Given the description of an element on the screen output the (x, y) to click on. 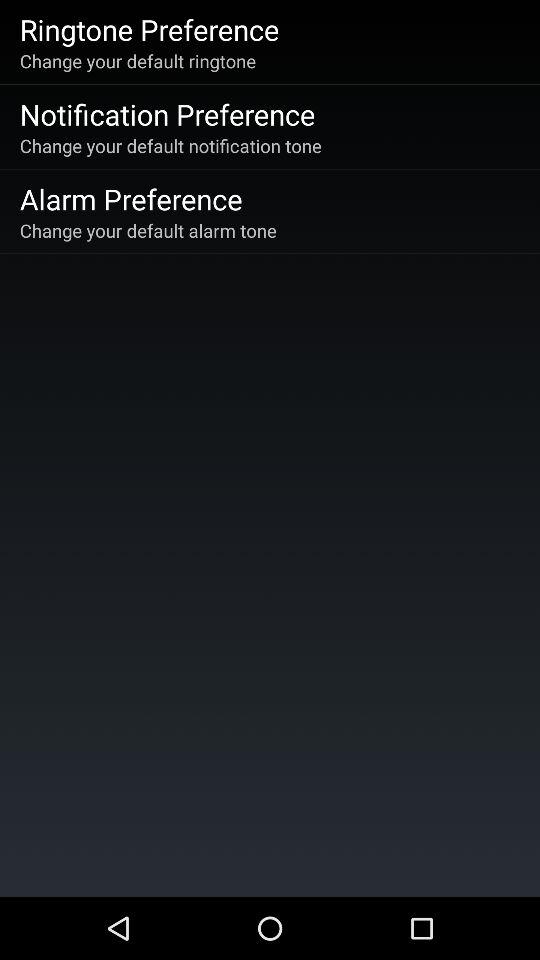
scroll to the notification preference app (167, 113)
